Given the description of an element on the screen output the (x, y) to click on. 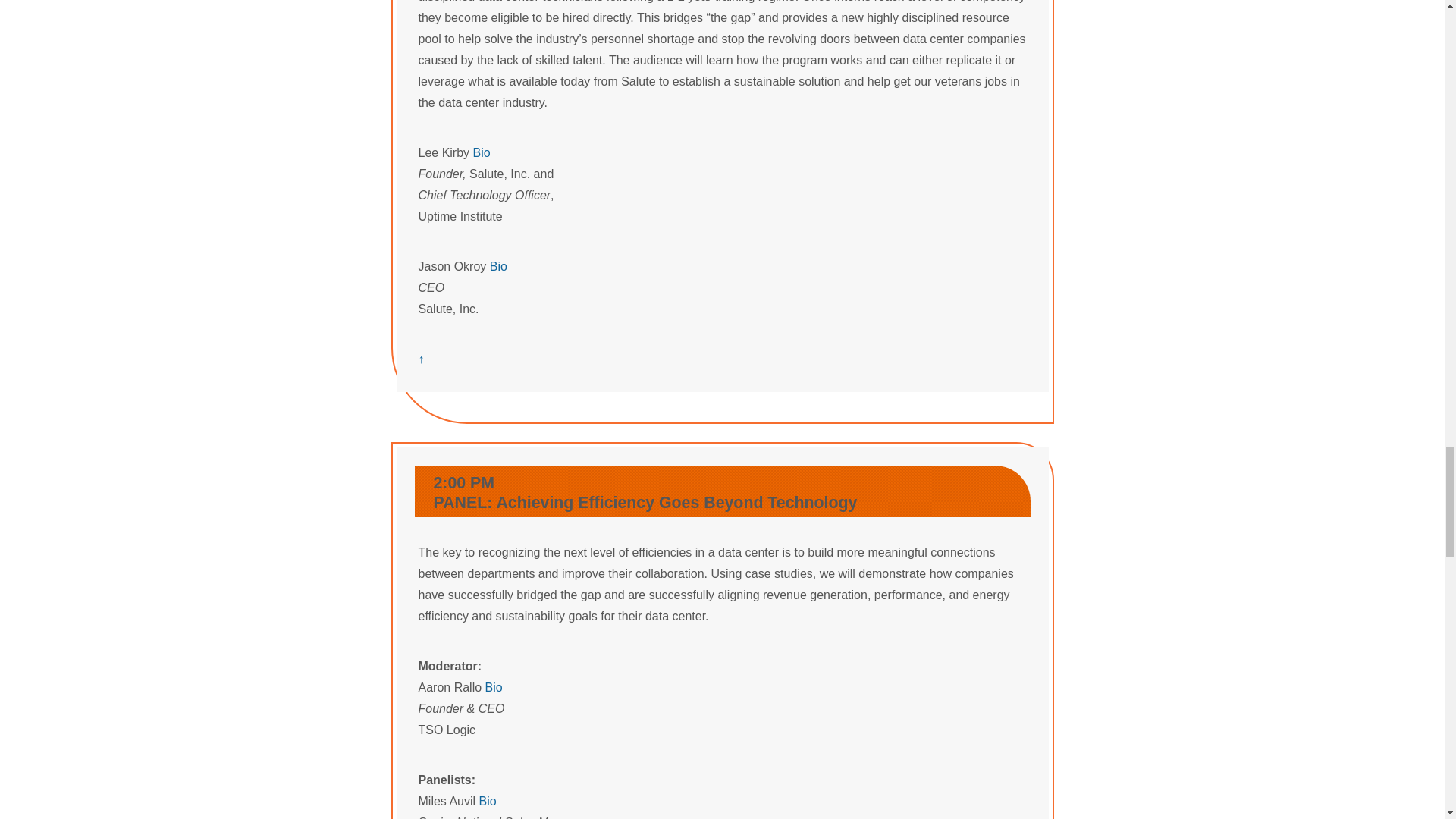
Bio (487, 800)
Bio (481, 152)
Bio (493, 686)
Bio (497, 266)
